Given the description of an element on the screen output the (x, y) to click on. 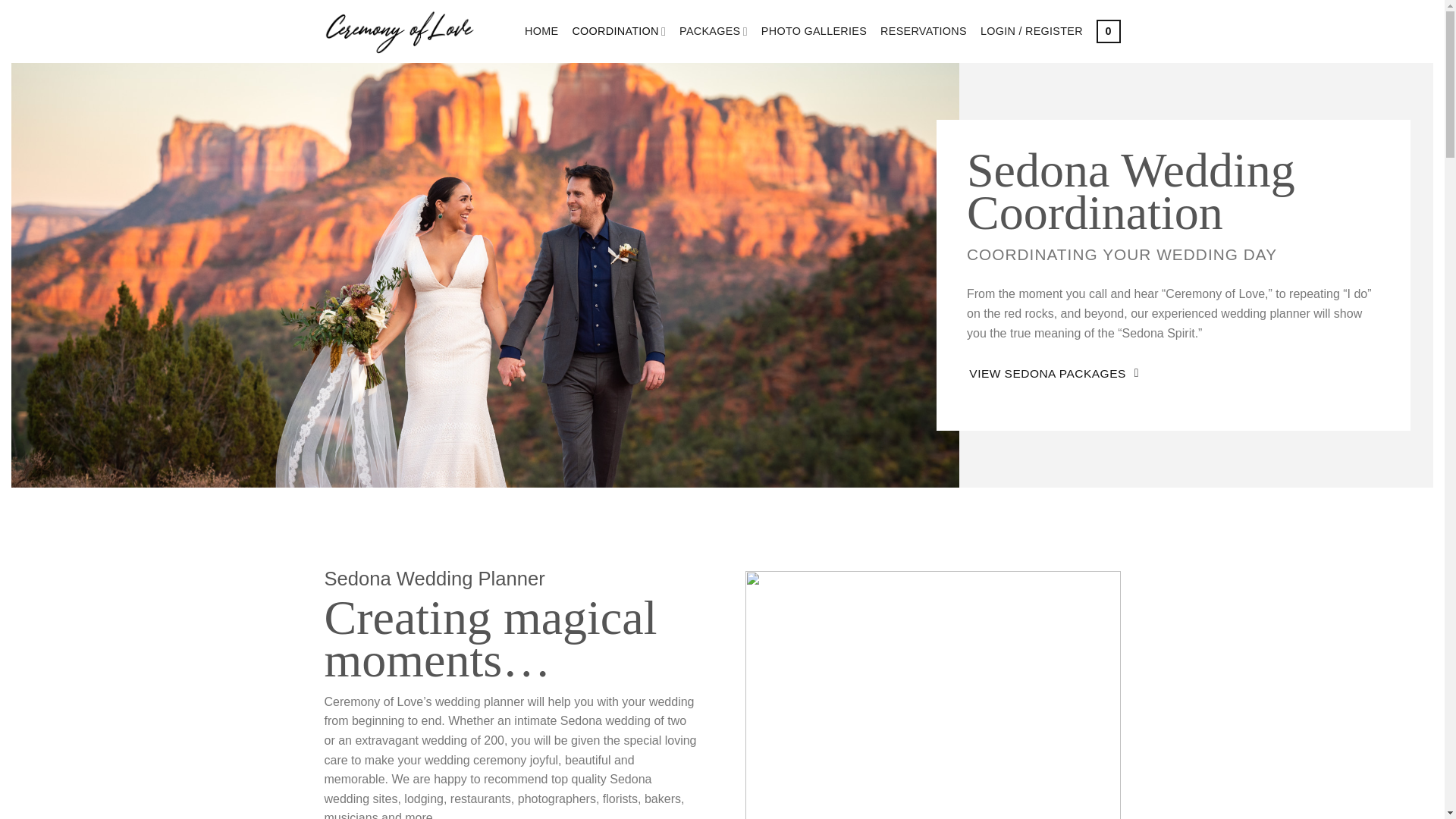
PACKAGES (713, 30)
Login (1031, 31)
HOME (540, 31)
PHOTO GALLERIES (813, 31)
RESERVATIONS (923, 31)
COORDINATION (618, 30)
VIEW SEDONA PACKAGES (1053, 373)
